Given the description of an element on the screen output the (x, y) to click on. 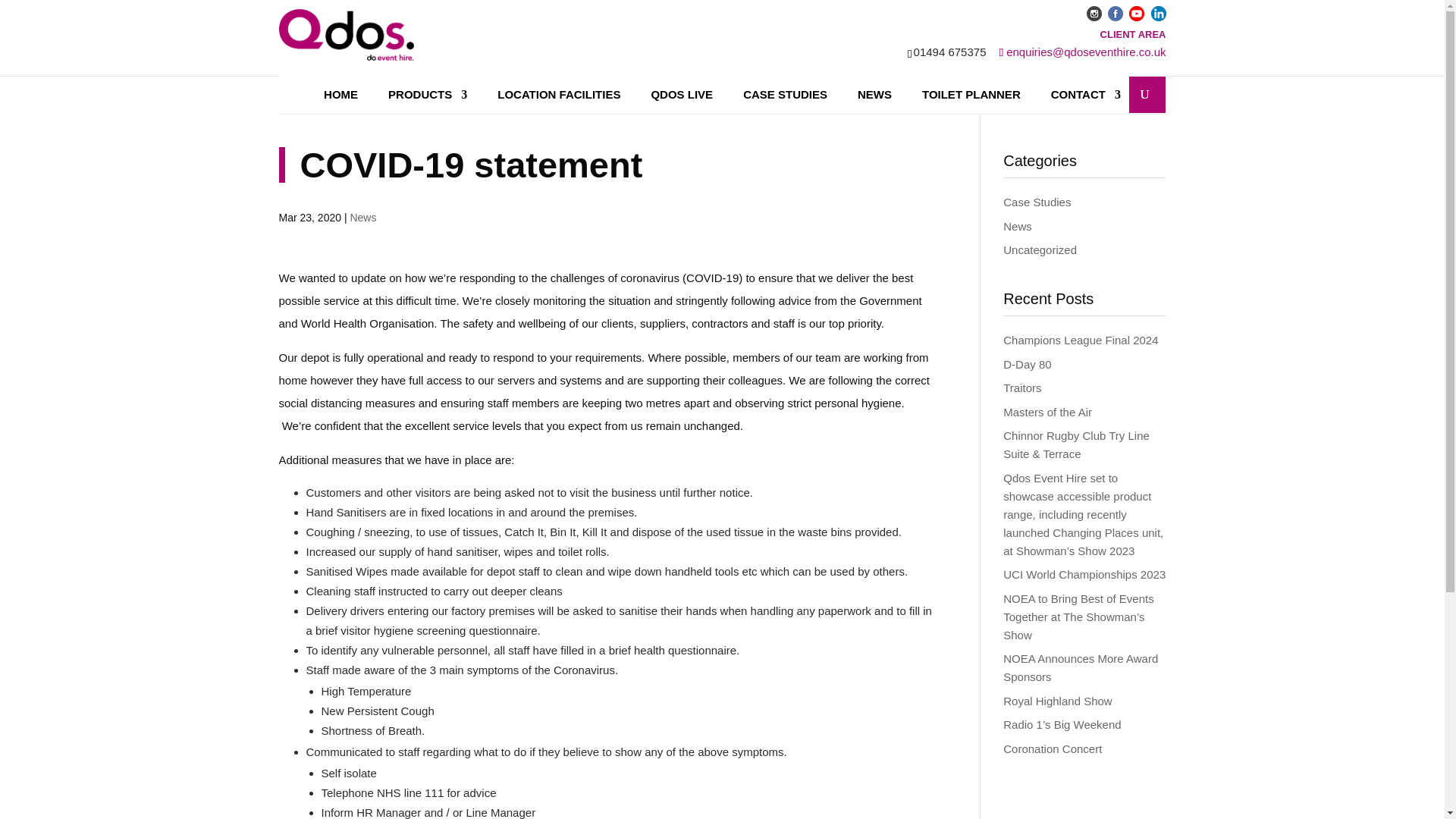
HOME (340, 94)
CLIENT AREA (1133, 34)
PRODUCTS (427, 94)
